Given the description of an element on the screen output the (x, y) to click on. 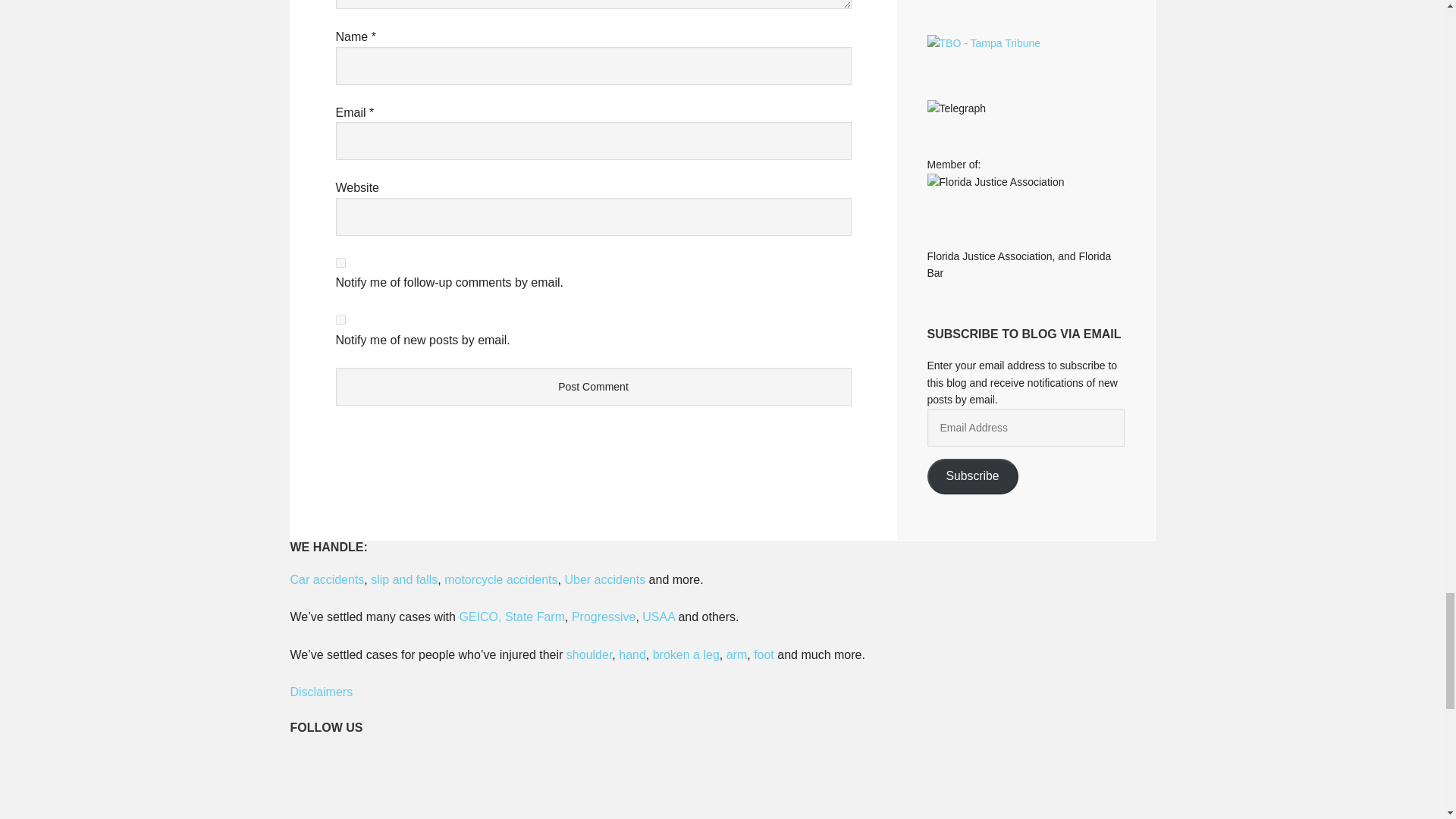
Post Comment (592, 386)
Facebook (407, 785)
subscribe (339, 262)
subscribe (339, 319)
